Given the description of an element on the screen output the (x, y) to click on. 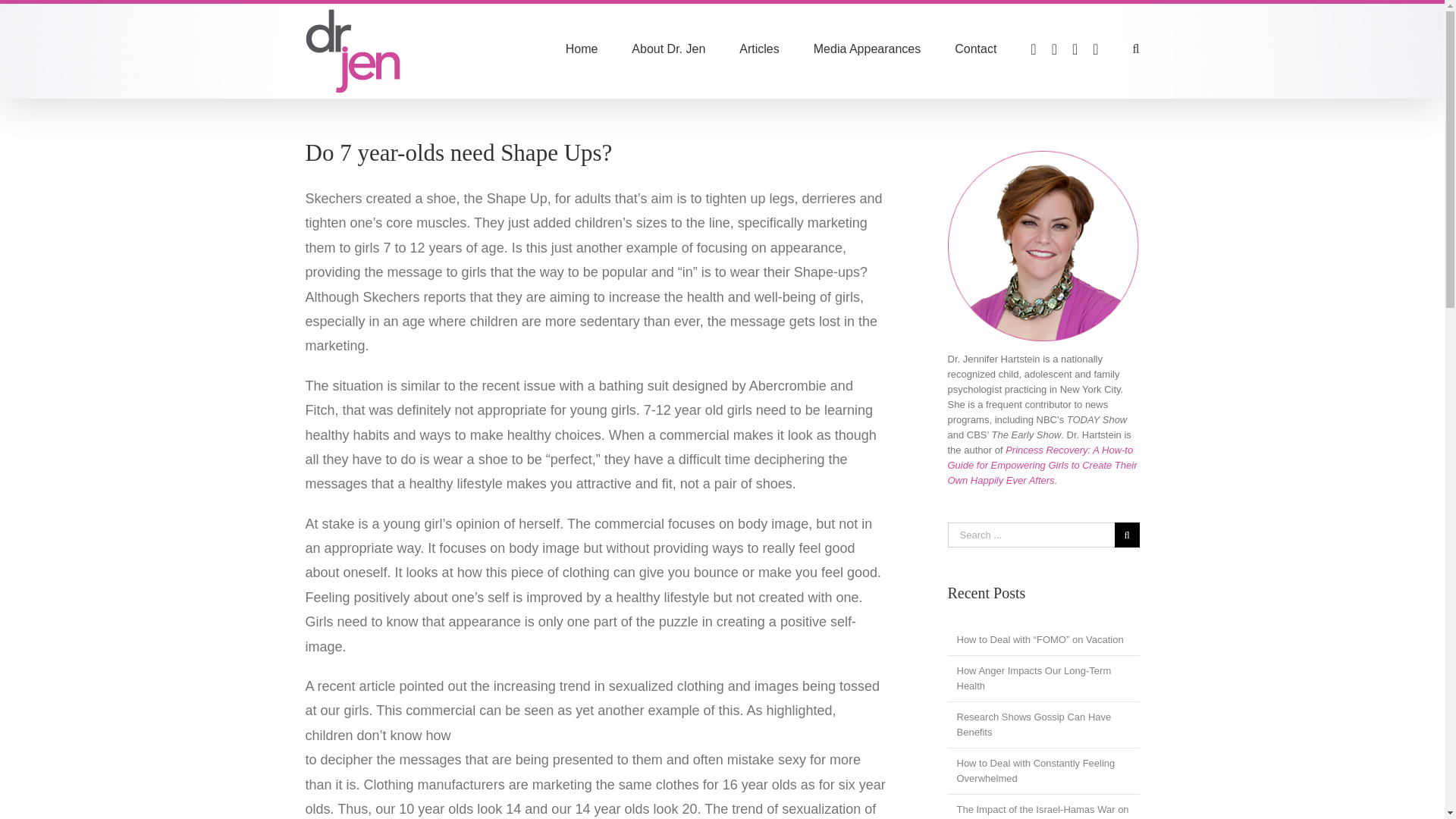
Articles (758, 49)
About Dr. Jen (667, 49)
Home (582, 49)
Media Appearances (866, 49)
Contact (975, 49)
